Given the description of an element on the screen output the (x, y) to click on. 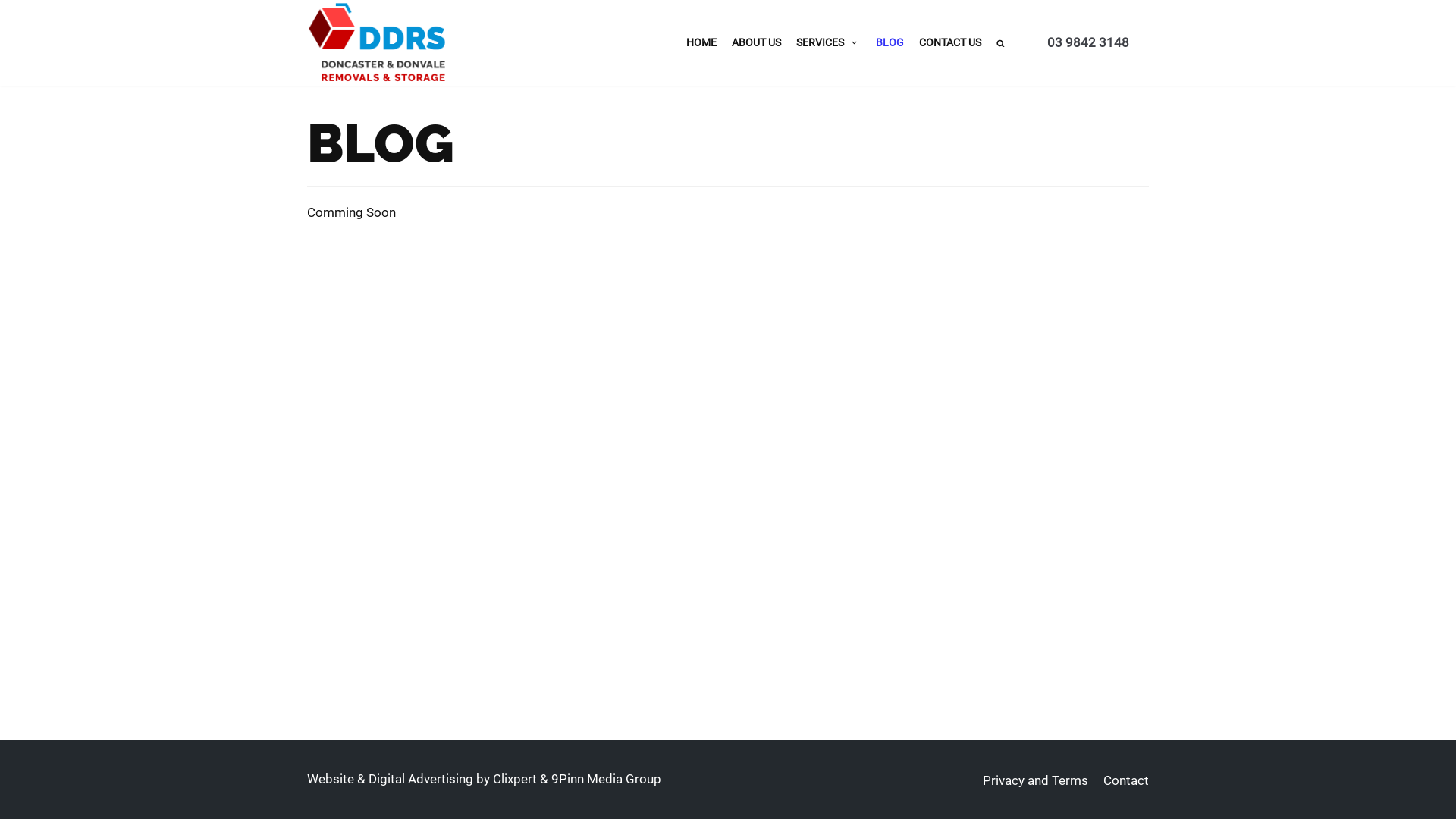
Contact Element type: text (1125, 779)
BLOG Element type: text (889, 42)
ABOUT US Element type: text (756, 42)
CONTACT US Element type: text (950, 42)
Privacy and Terms Element type: text (1035, 779)
Search Element type: text (1146, 80)
03 9842 3148 Element type: text (1088, 42)
SERVICES Element type: text (828, 42)
Skip to content Element type: text (15, 7)
HOME Element type: text (701, 42)
